Given the description of an element on the screen output the (x, y) to click on. 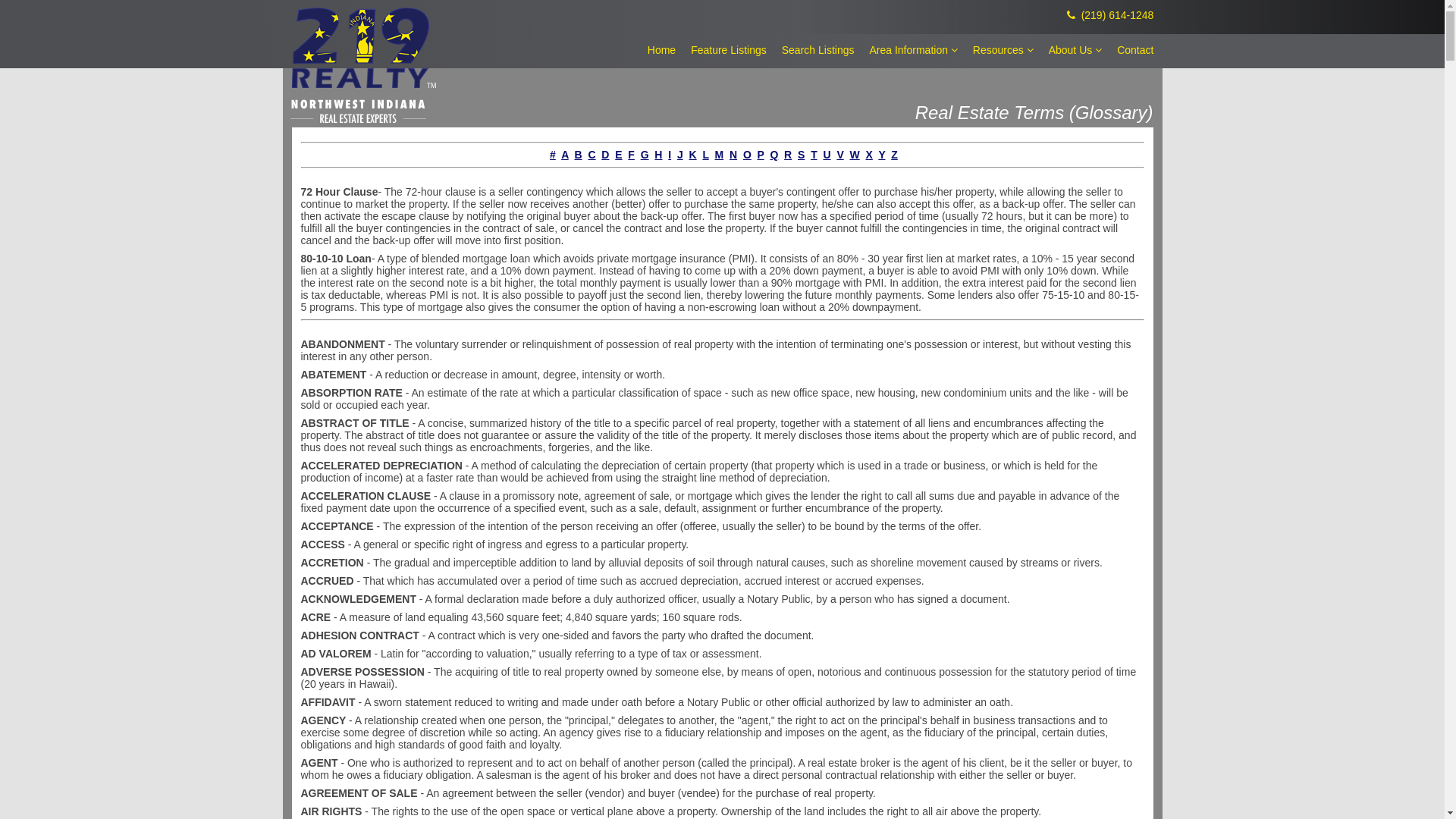
T Element type: text (813, 154)
I Element type: text (669, 154)
A Element type: text (564, 154)
N Element type: text (733, 154)
R Element type: text (787, 154)
Home Element type: text (661, 49)
  Element type: text (544, 154)
O Element type: text (747, 154)
P Element type: text (760, 154)
  Element type: text (301, 179)
F Element type: text (630, 154)
V Element type: text (839, 154)
K Element type: text (692, 154)
# Element type: text (552, 154)
L Element type: text (705, 154)
M Element type: text (719, 154)
Area Information Element type: text (912, 49)
Search Listings Element type: text (818, 49)
H Element type: text (658, 154)
S Element type: text (800, 154)
U Element type: text (826, 154)
D Element type: text (604, 154)
J Element type: text (680, 154)
Y Element type: text (881, 154)
W Element type: text (854, 154)
Z Element type: text (894, 154)
Feature Listings Element type: text (728, 49)
C Element type: text (591, 154)
E Element type: text (618, 154)
X Element type: text (869, 154)
B Element type: text (578, 154)
Resources Element type: text (1003, 49)
Q Element type: text (773, 154)
  Element type: text (301, 332)
Contact Element type: text (1135, 49)
About Us Element type: text (1075, 49)
G Element type: text (644, 154)
